Given the description of an element on the screen output the (x, y) to click on. 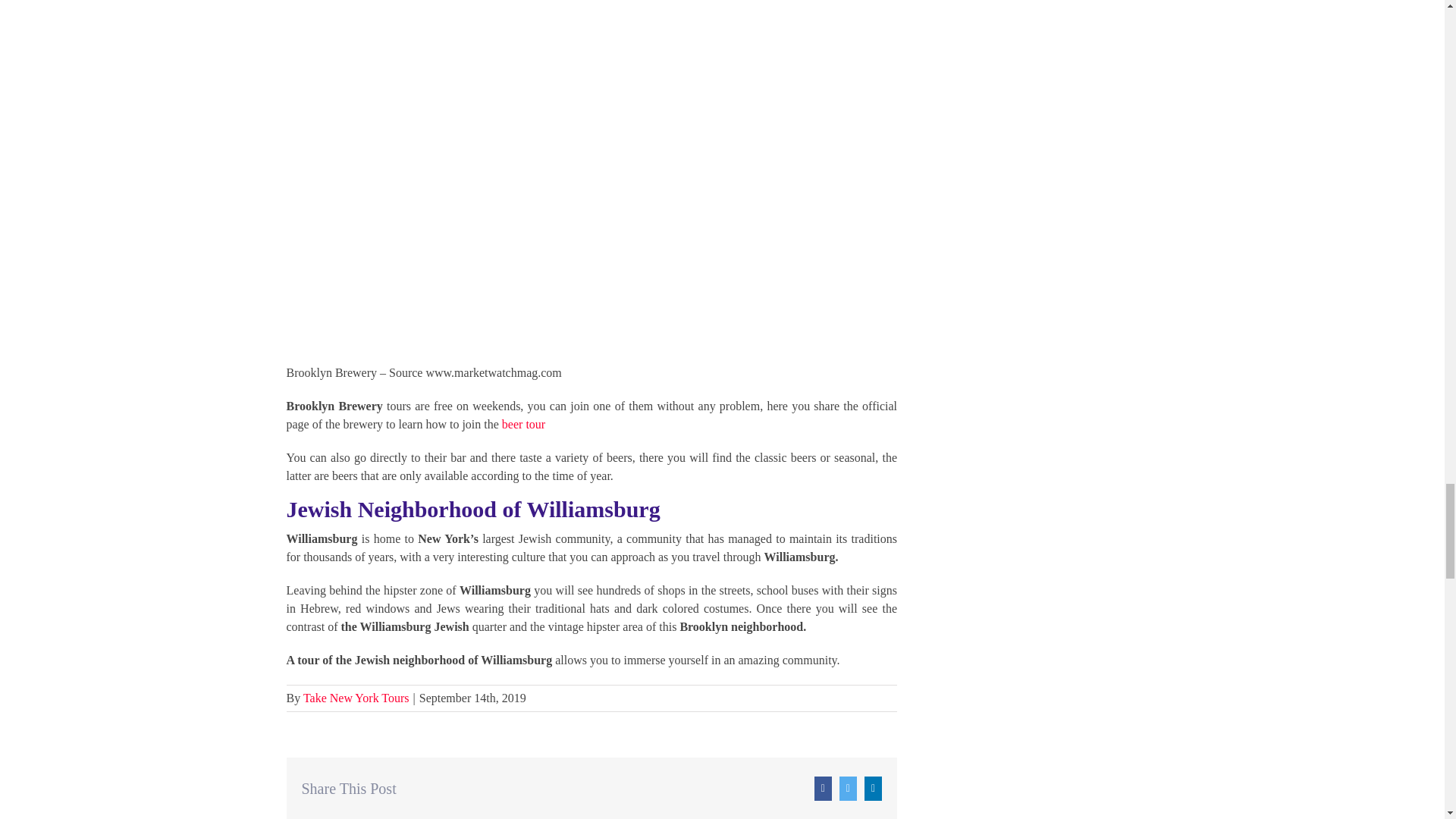
Posts by Take New York Tours (355, 697)
